Given the description of an element on the screen output the (x, y) to click on. 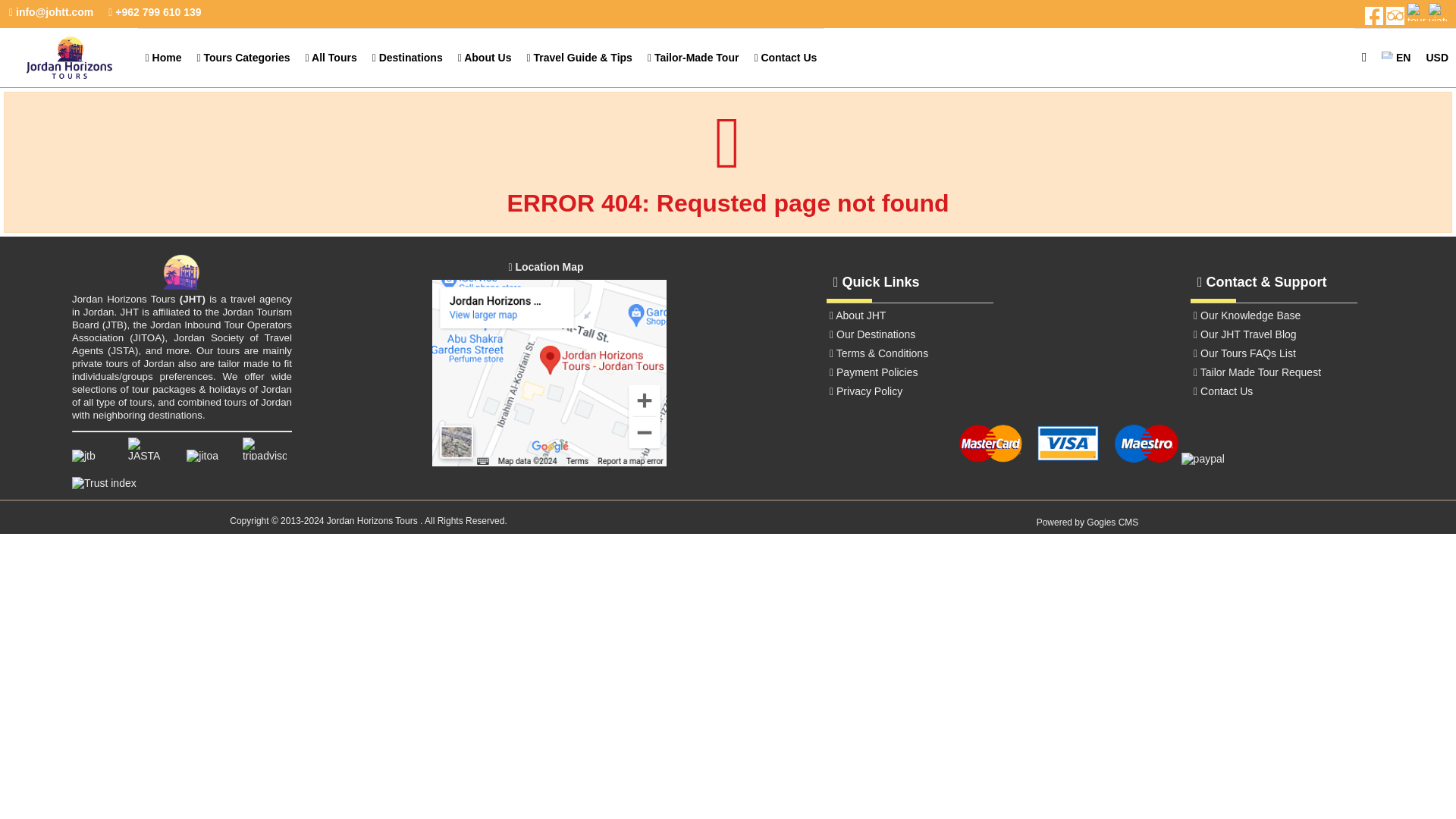
TripAdvisor  (264, 455)
Tours Categories (243, 56)
Jordan Horizon Location (549, 462)
Jordan Horizons Tours Main - Home Page  (181, 285)
Tailor-Made Tour (693, 56)
Destinations (407, 56)
Contact Us (784, 56)
Trustindext of JHT link (179, 482)
All Tours (331, 56)
About Us (484, 56)
JITOA (208, 455)
